Given the description of an element on the screen output the (x, y) to click on. 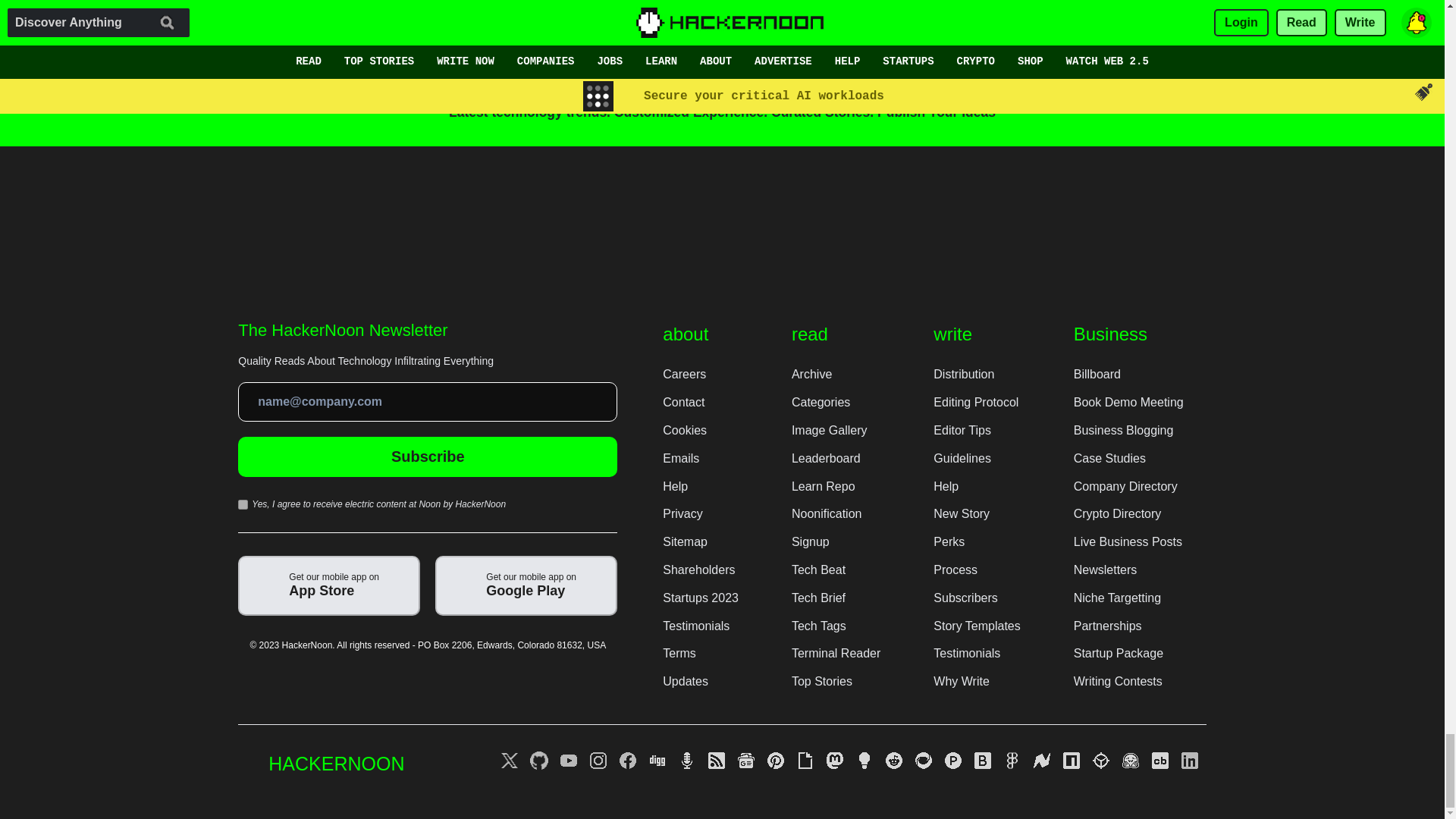
on (242, 504)
